Given the description of an element on the screen output the (x, y) to click on. 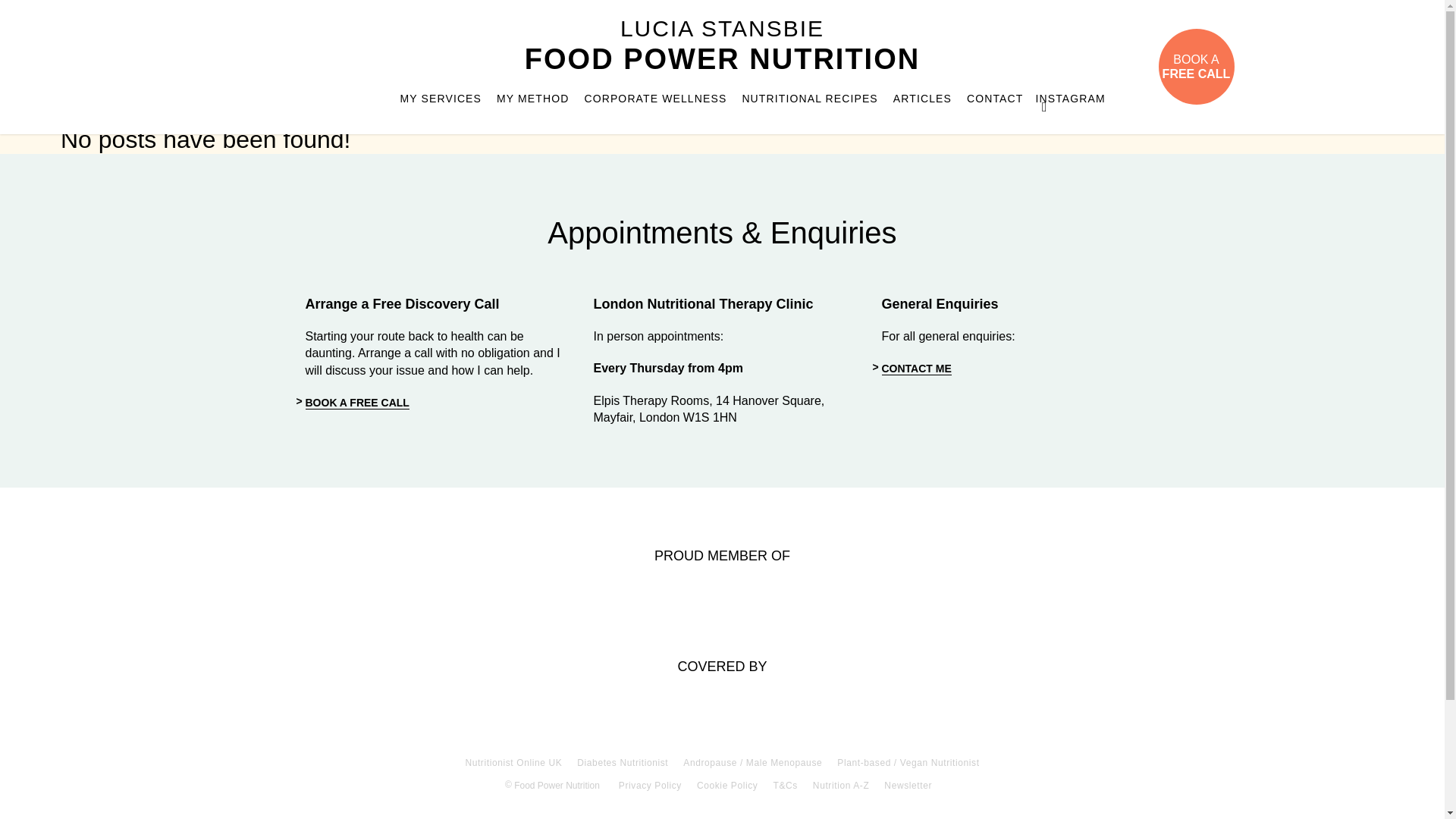
Privacy Policy (649, 785)
Newsletter (907, 785)
ARTICLES (1196, 66)
Nutrition A-Z (922, 99)
CONTACT (840, 785)
MY METHOD (994, 99)
MY SERVICES (532, 99)
Follow on Instagram (440, 99)
NUTRITIONAL RECIPES (1043, 103)
CONTACT ME (809, 99)
CORPORATE WELLNESS (915, 368)
Diabetes Nutritionist (654, 99)
Nutritionist Online UK (622, 762)
Cookie Policy (513, 762)
